Given the description of an element on the screen output the (x, y) to click on. 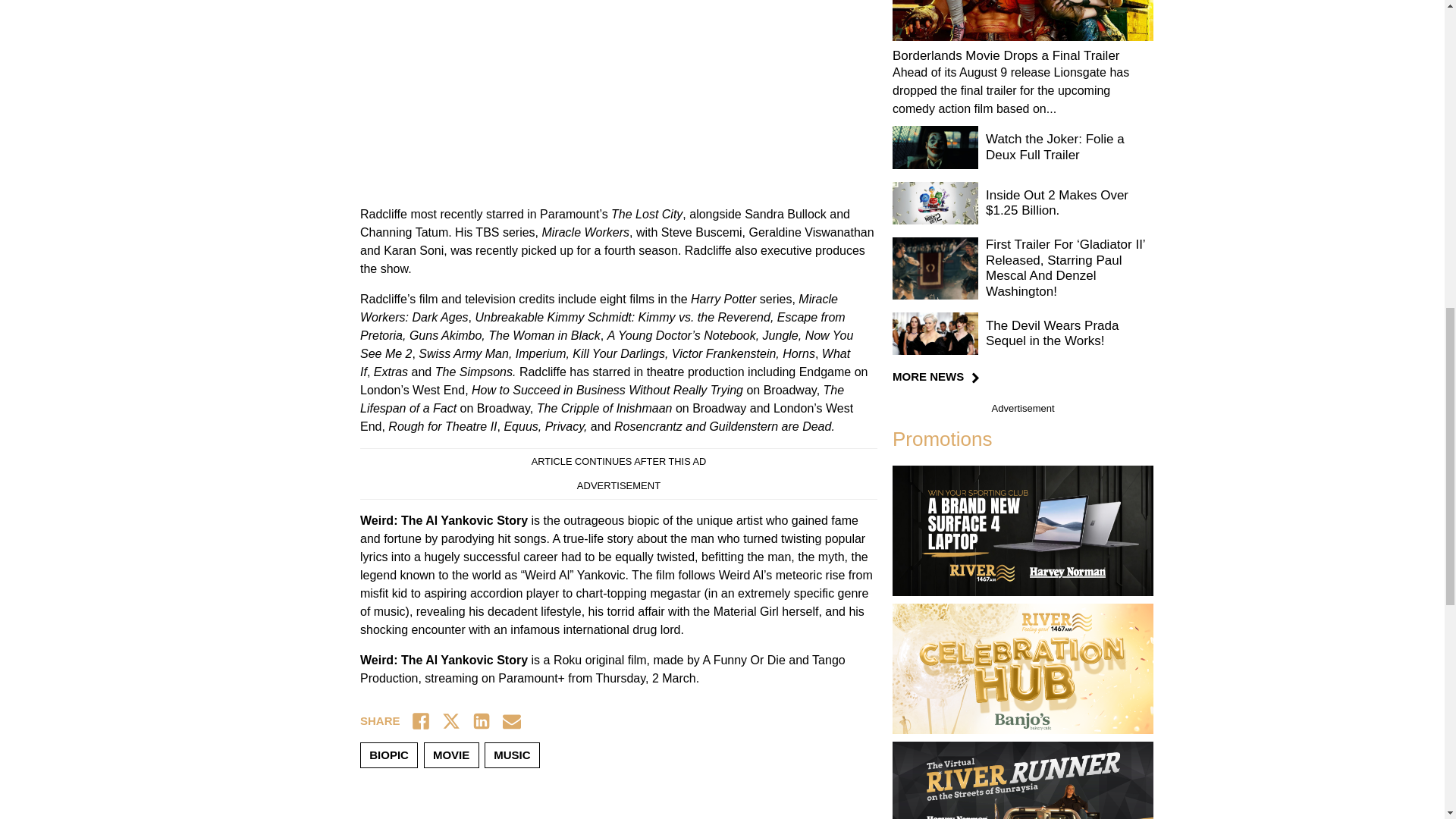
YouTube video player (571, 94)
